Given the description of an element on the screen output the (x, y) to click on. 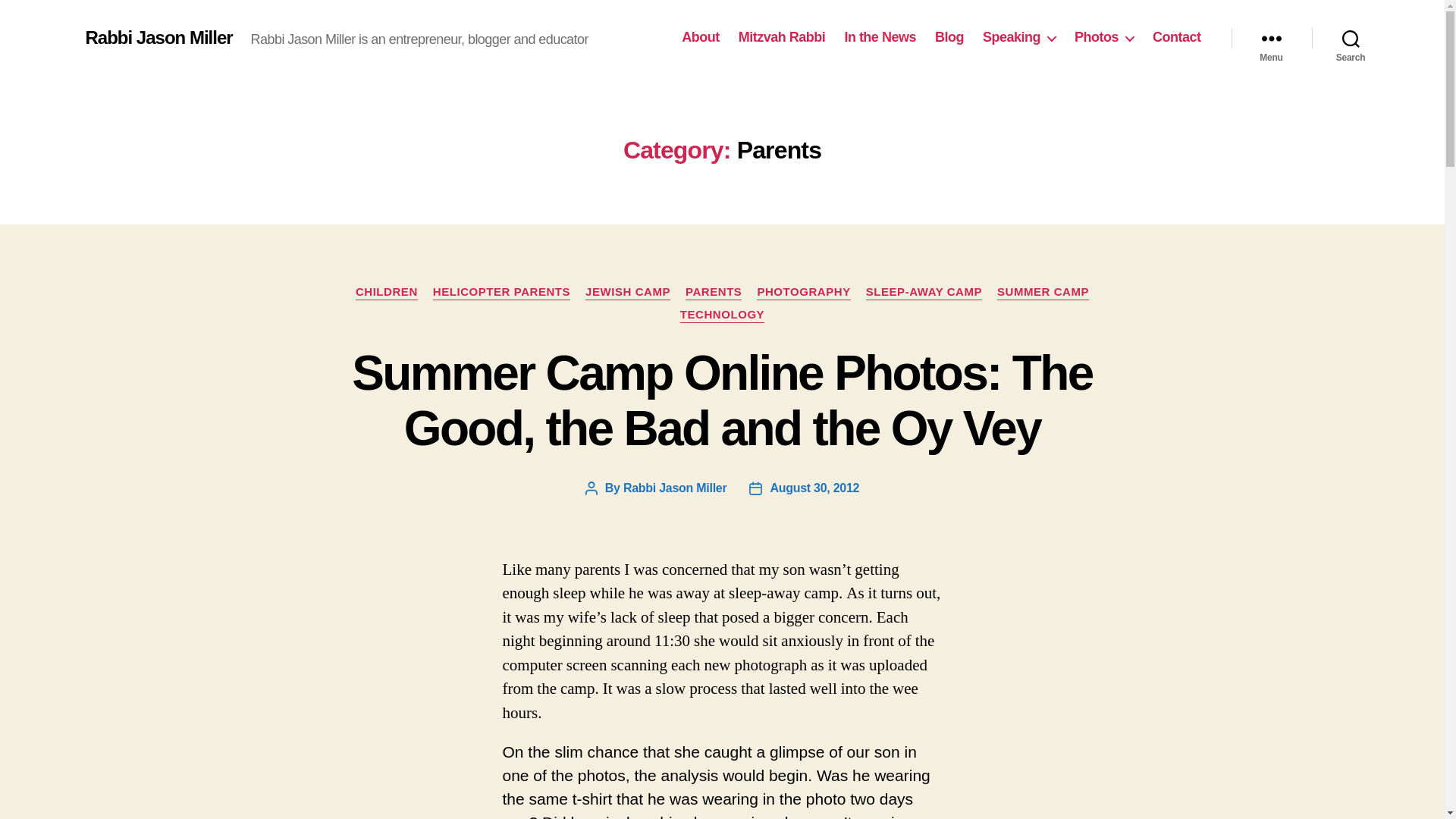
Rabbi Jason Miller (157, 37)
Photos (1104, 37)
Search (1350, 37)
In the News (879, 37)
Blog (948, 37)
Speaking (1018, 37)
Contact (1177, 37)
About (700, 37)
Menu (1271, 37)
Mitzvah Rabbi (781, 37)
